Given the description of an element on the screen output the (x, y) to click on. 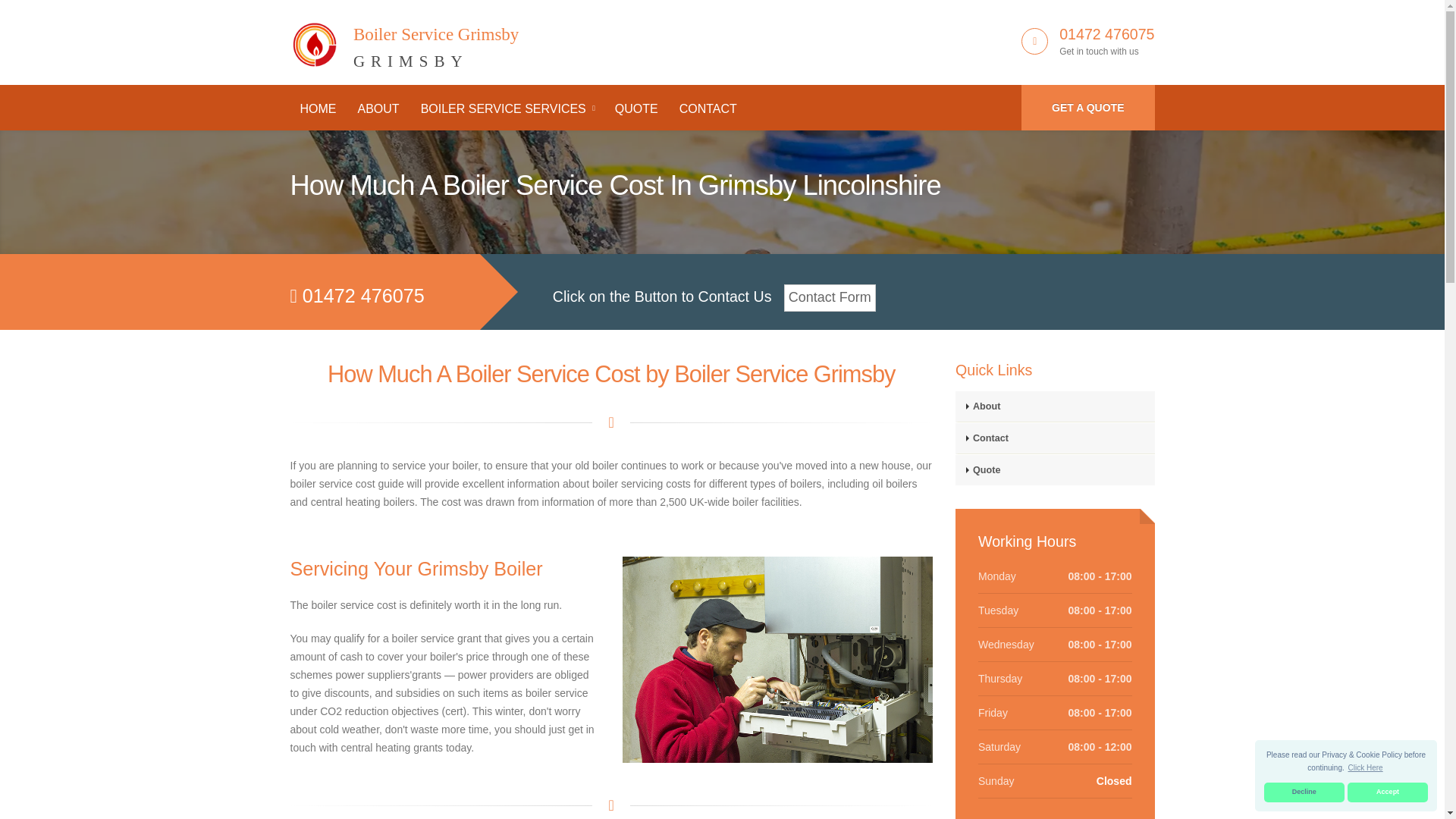
HOME (317, 109)
01472 476075 (1106, 33)
ABOUT (378, 109)
Accept (403, 38)
GET A QUOTE (1388, 792)
BOILER SERVICE SERVICES (1088, 107)
Decline (507, 109)
Click Here (1303, 792)
